Given the description of an element on the screen output the (x, y) to click on. 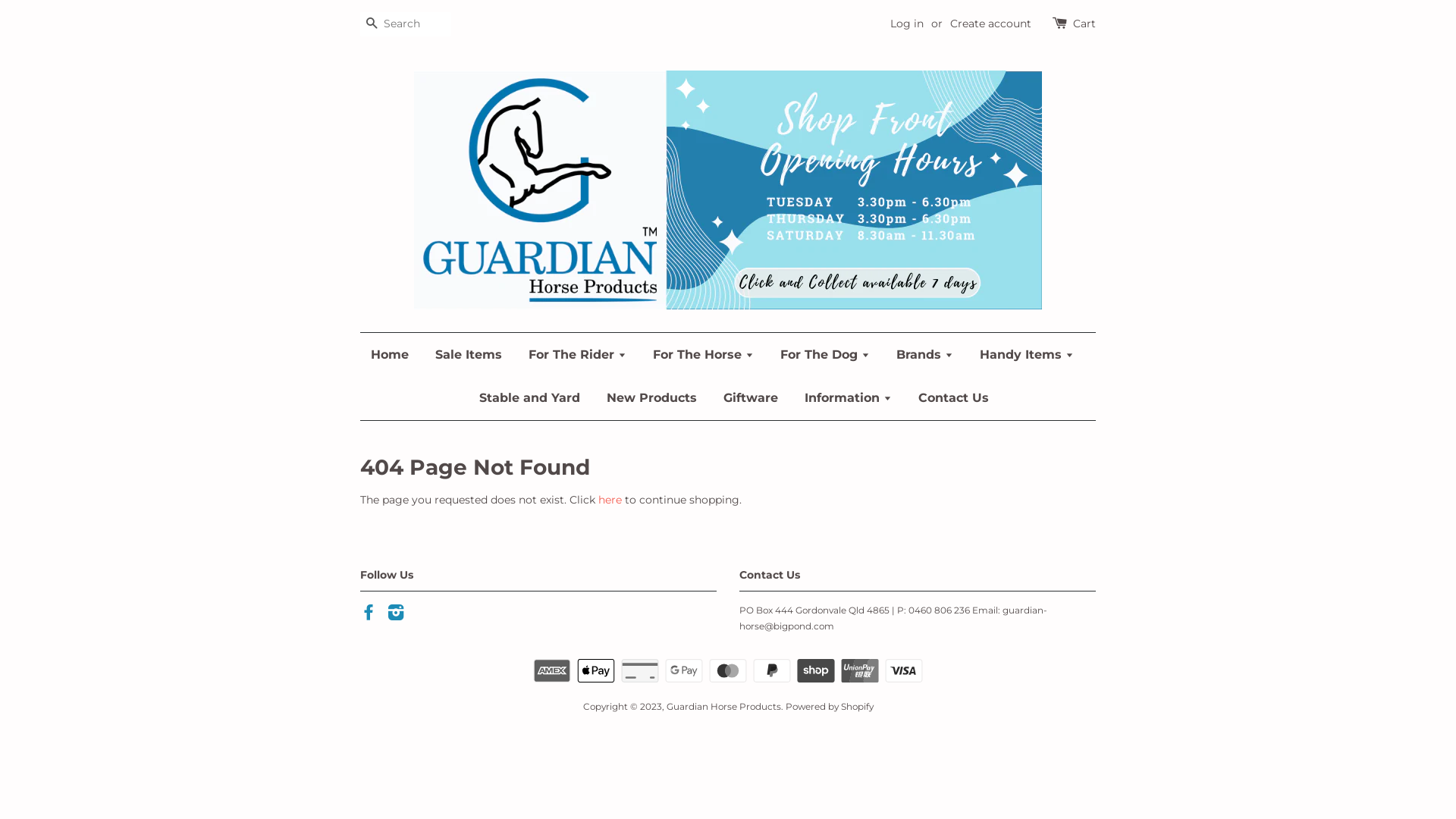
Home Element type: text (395, 354)
Instagram Element type: text (395, 615)
Brands Element type: text (924, 354)
Stable and Yard Element type: text (528, 397)
here Element type: text (609, 499)
For The Dog Element type: text (824, 354)
Sale Items Element type: text (468, 354)
New Products Element type: text (650, 397)
Powered by Shopify Element type: text (829, 706)
Information Element type: text (848, 397)
Contact Us Element type: text (947, 397)
For The Rider Element type: text (577, 354)
Giftware Element type: text (749, 397)
Cart Element type: text (1084, 24)
Create account Element type: text (990, 23)
Facebook Element type: text (368, 615)
For The Horse Element type: text (703, 354)
Guardian Horse Products Element type: text (722, 706)
Log in Element type: text (906, 23)
Handy Items Element type: text (1026, 354)
Search Element type: text (371, 24)
